Given the description of an element on the screen output the (x, y) to click on. 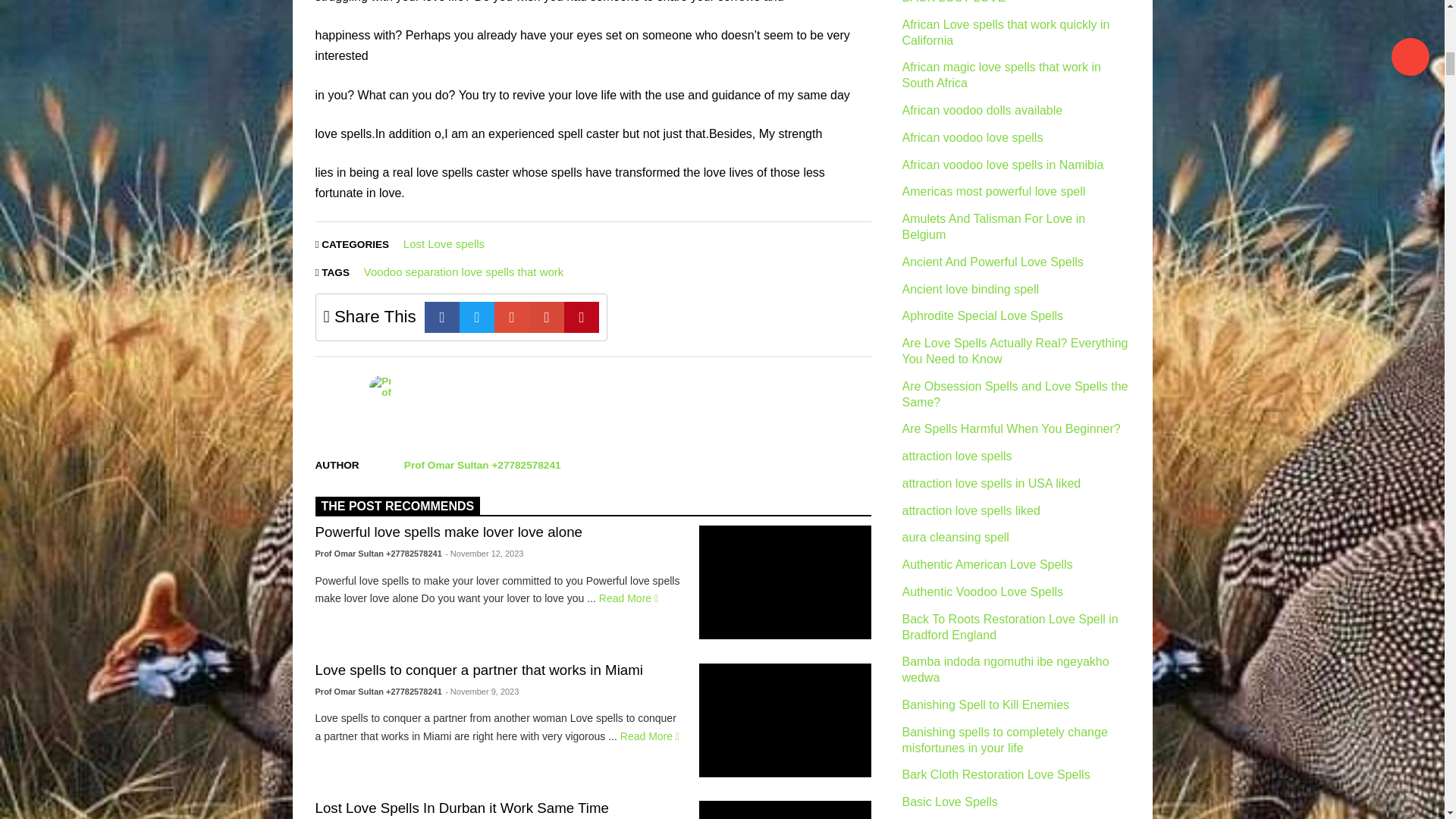
Lost Love spells (443, 243)
Voodoo separation love spells that work (464, 271)
Facebook (442, 317)
Twitter (477, 317)
